Given the description of an element on the screen output the (x, y) to click on. 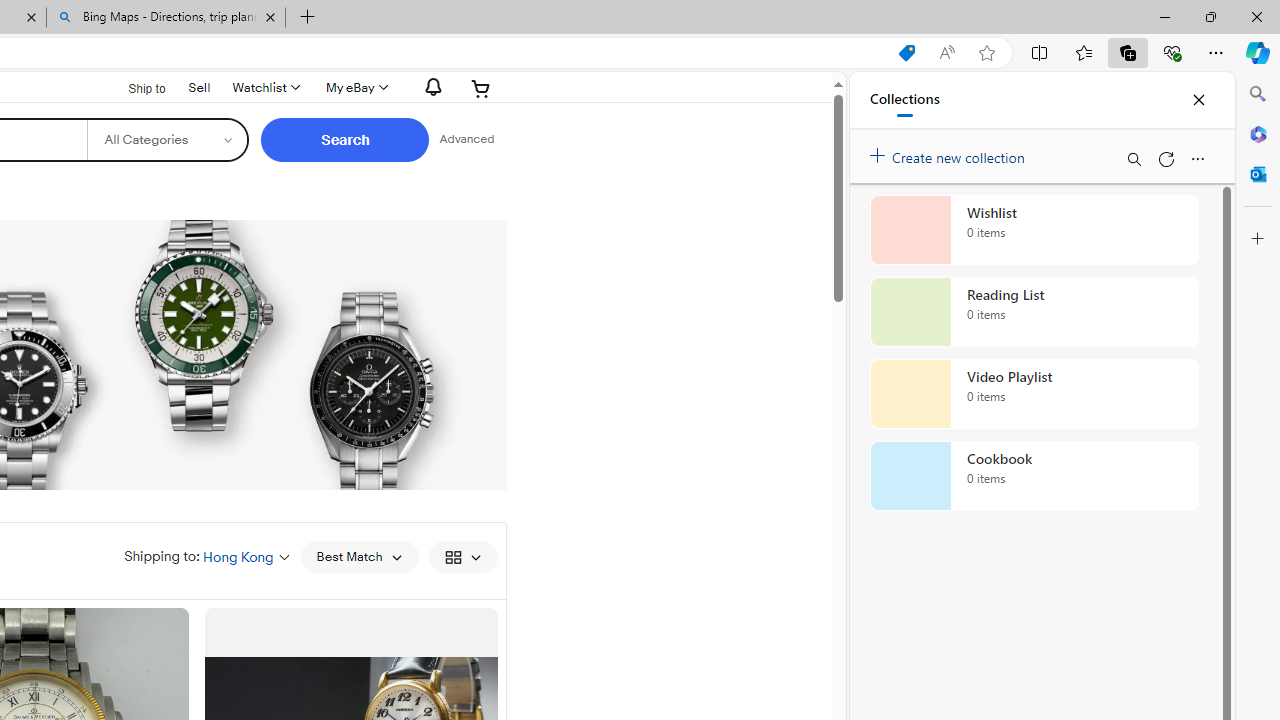
Sort: Best Match (358, 556)
View: Gallery View (462, 556)
Expand Cart (481, 88)
This site has coupons! Shopping in Microsoft Edge, 20 (906, 53)
Shipping to: Hong Kong (207, 556)
My eBay (354, 88)
Watchlist (264, 88)
Ship to (134, 86)
